Given the description of an element on the screen output the (x, y) to click on. 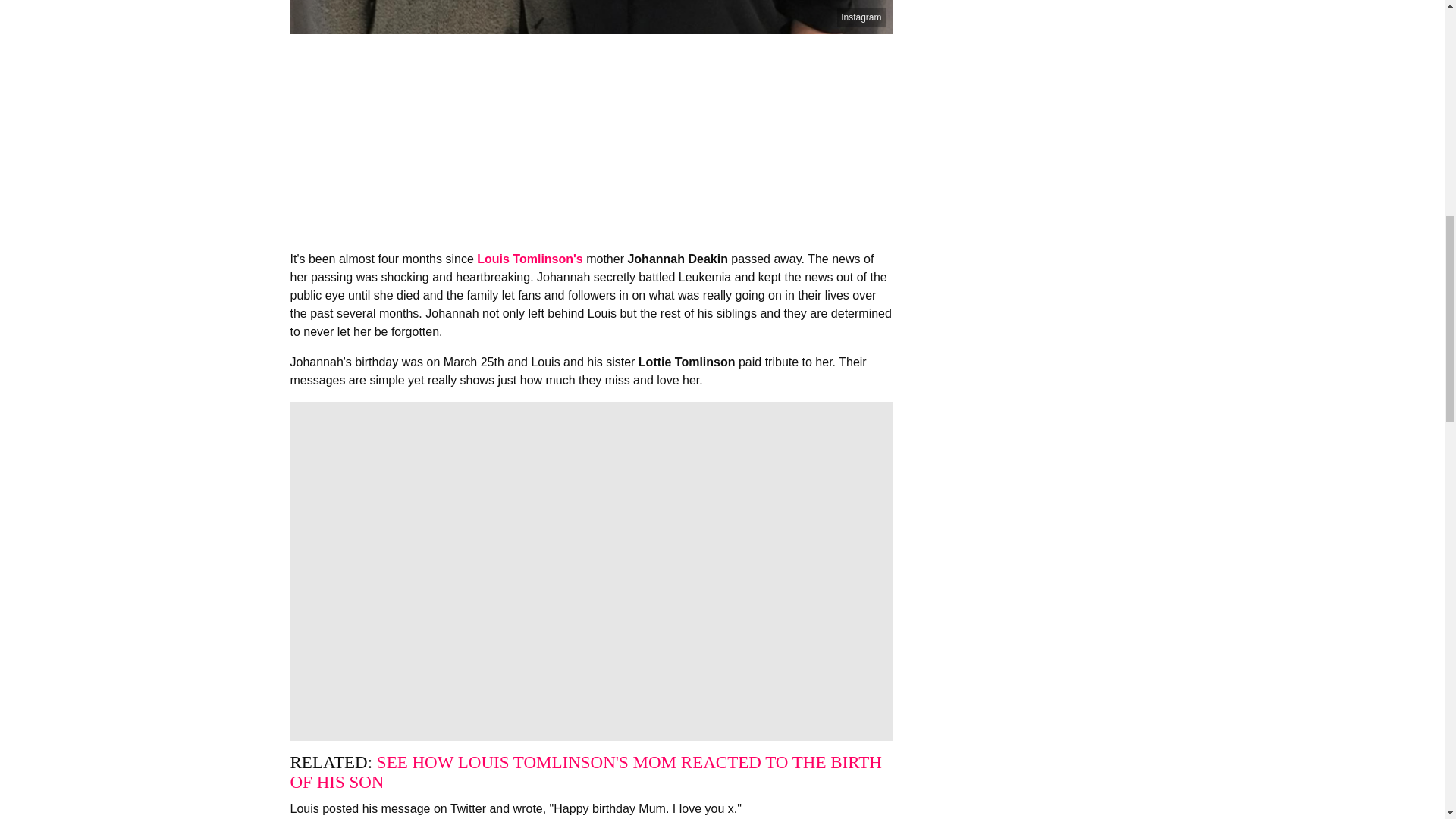
Louis Tomlinson's (530, 258)
